Given the description of an element on the screen output the (x, y) to click on. 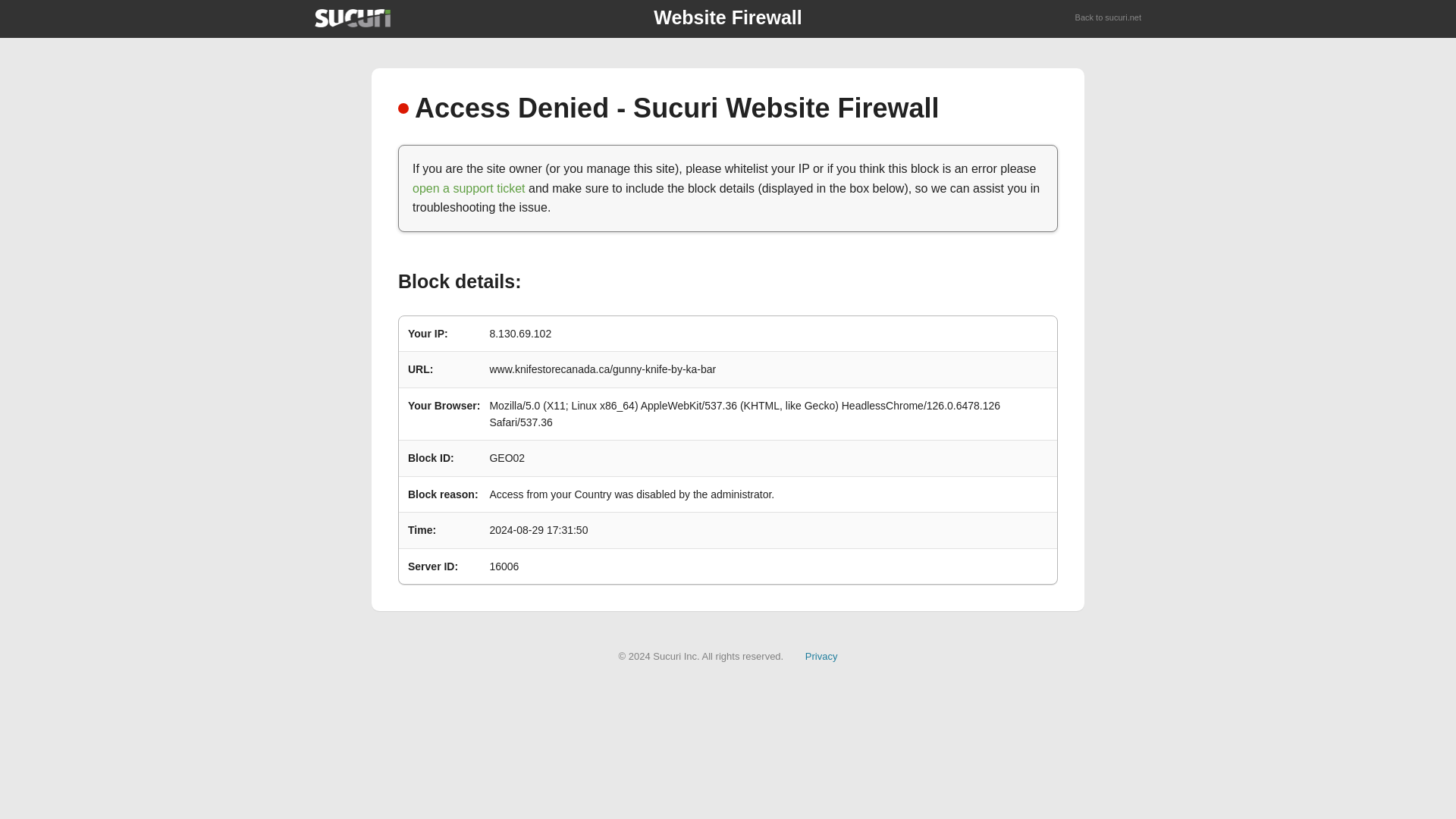
open a support ticket (468, 187)
Privacy (821, 655)
Back to sucuri.net (1108, 18)
